Given the description of an element on the screen output the (x, y) to click on. 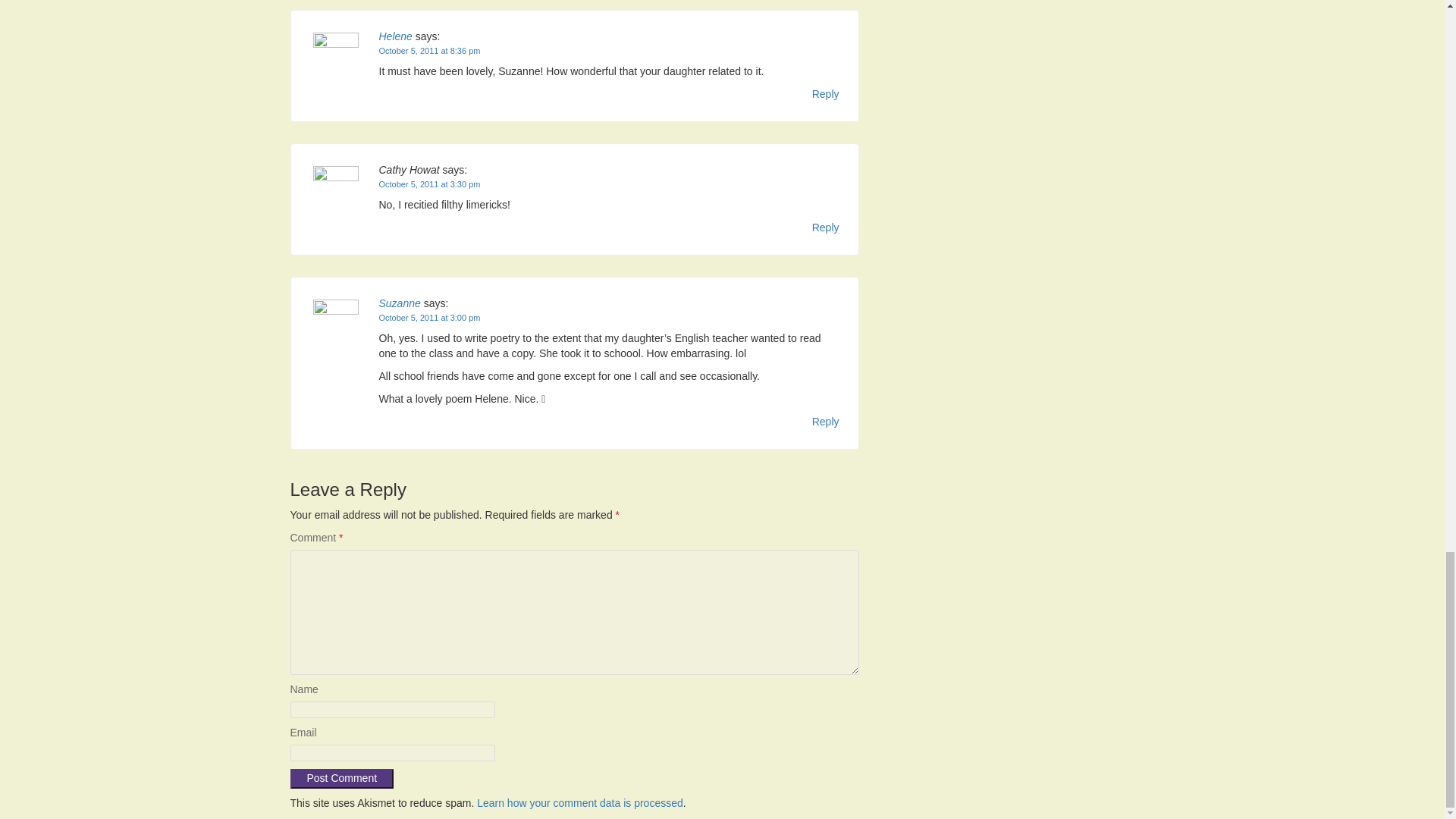
Post Comment (341, 778)
